Given the description of an element on the screen output the (x, y) to click on. 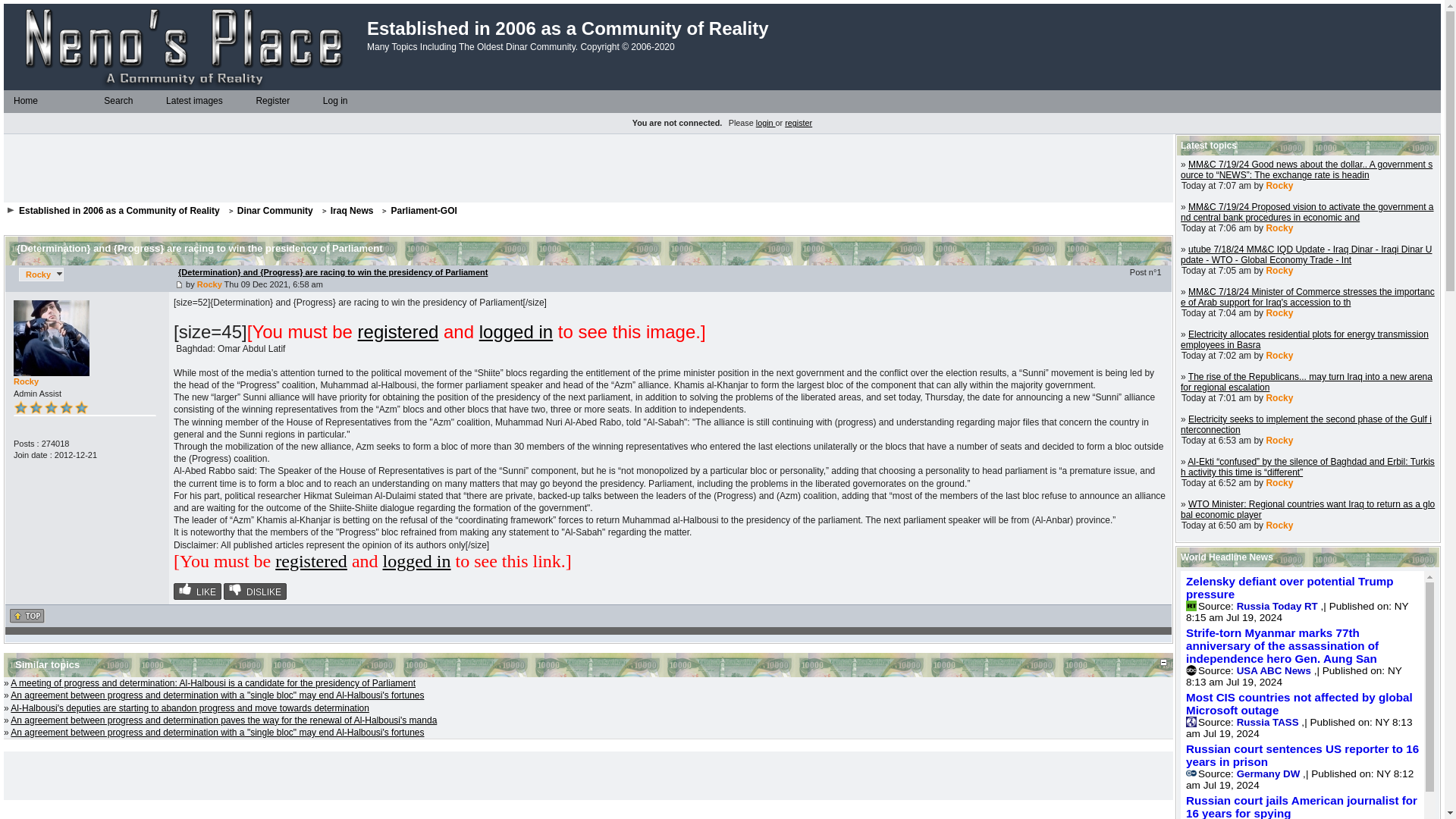
registered (311, 560)
Established in 2006 as a Community of Reality (118, 210)
login (765, 122)
Home (8, 101)
Post (178, 284)
LIKE (197, 591)
An agreement between progress and determination with a  (216, 732)
Parliament-GOI (423, 210)
Log in (334, 101)
logged in (516, 331)
Home (25, 101)
Register (251, 101)
Register (272, 101)
